Given the description of an element on the screen output the (x, y) to click on. 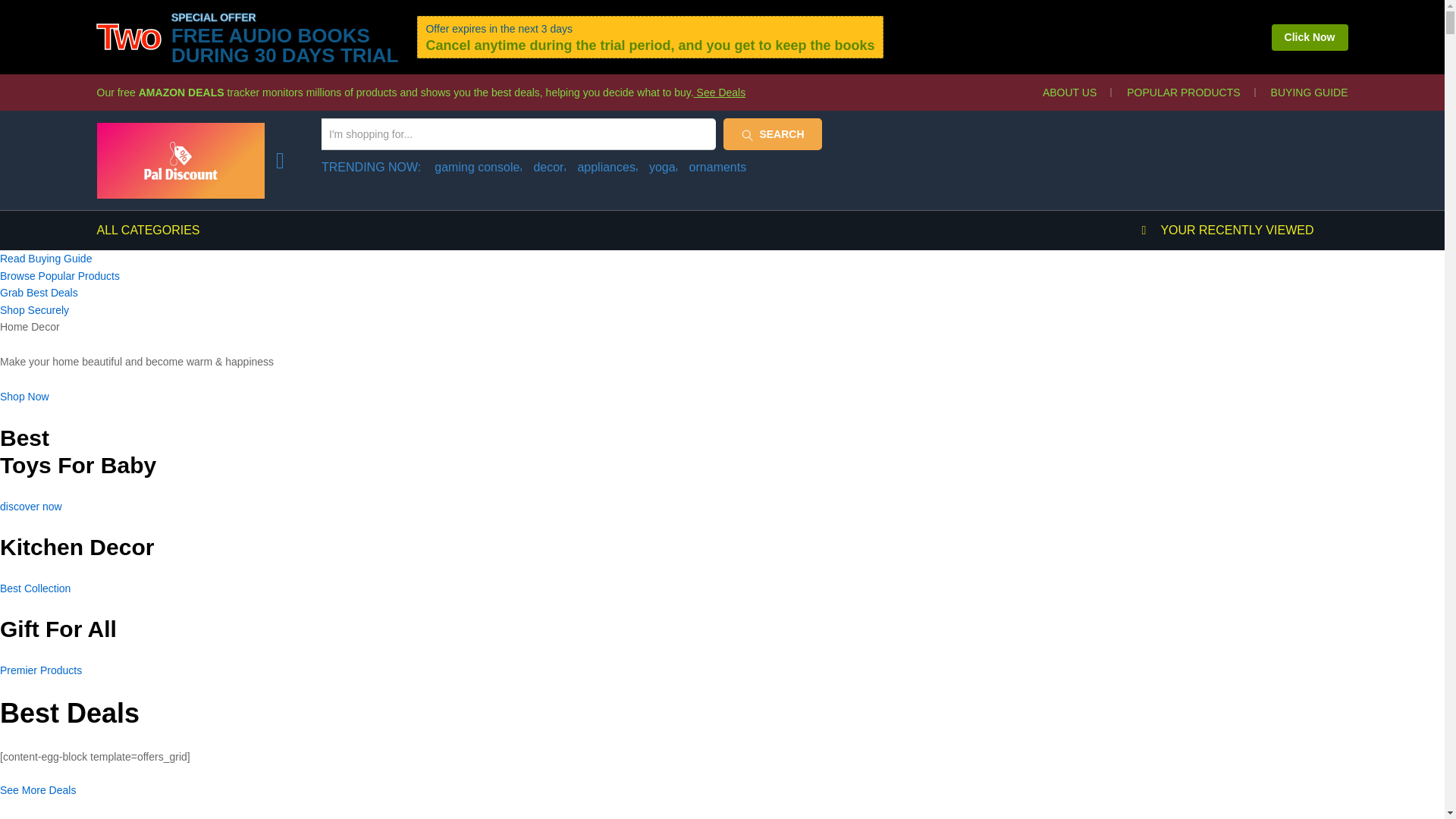
SEARCH (772, 133)
BUYING GUIDE (1309, 92)
ALL CATEGORIES (148, 230)
discover now (31, 506)
POPULAR PRODUCTS (1183, 92)
Grab Best Deals (39, 292)
See Deals (719, 92)
ornaments (717, 166)
Read Buying Guide (45, 258)
appliances (607, 166)
